Given the description of an element on the screen output the (x, y) to click on. 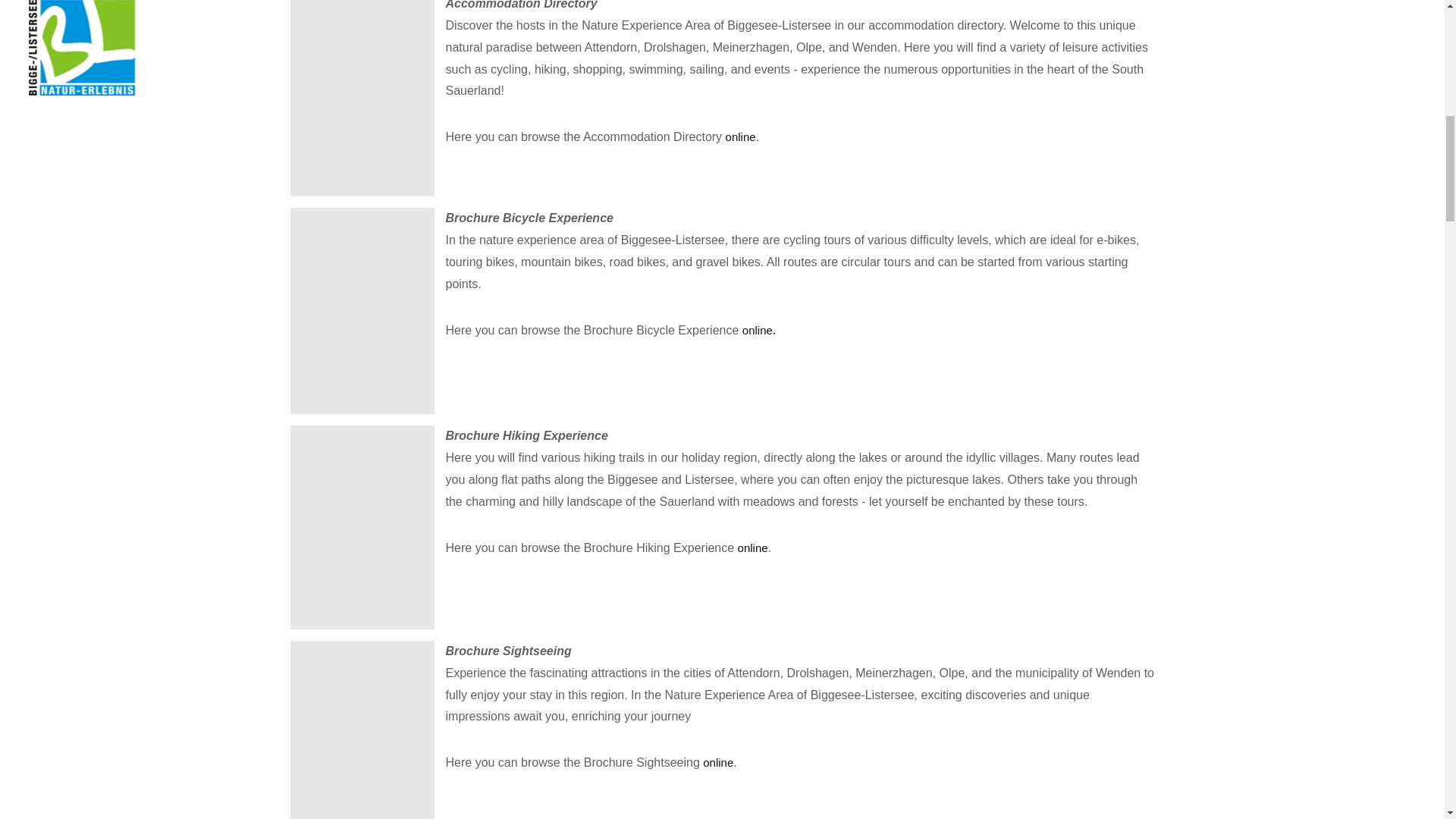
online (740, 136)
